Given the description of an element on the screen output the (x, y) to click on. 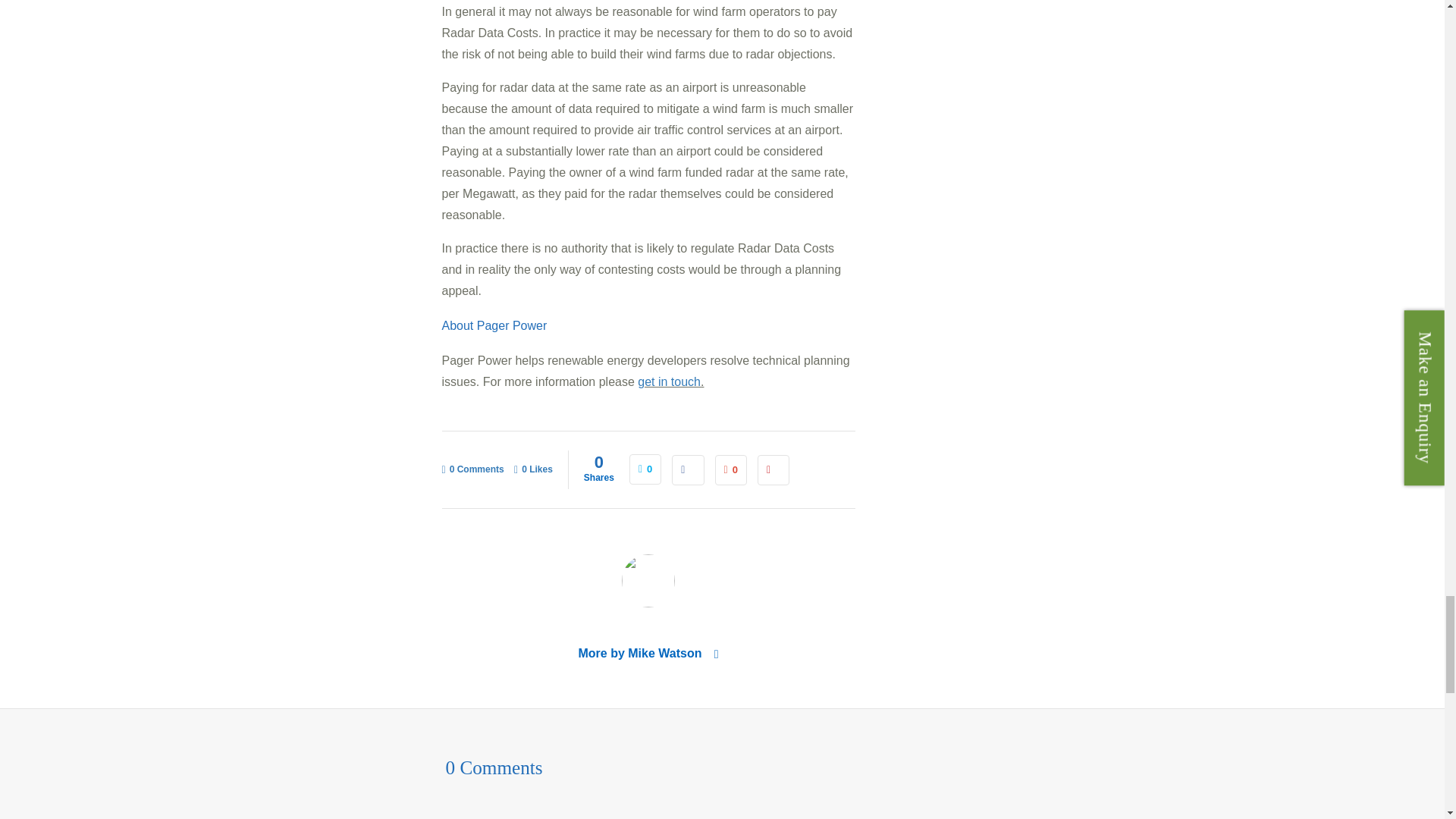
0 Comments (472, 469)
